Given the description of an element on the screen output the (x, y) to click on. 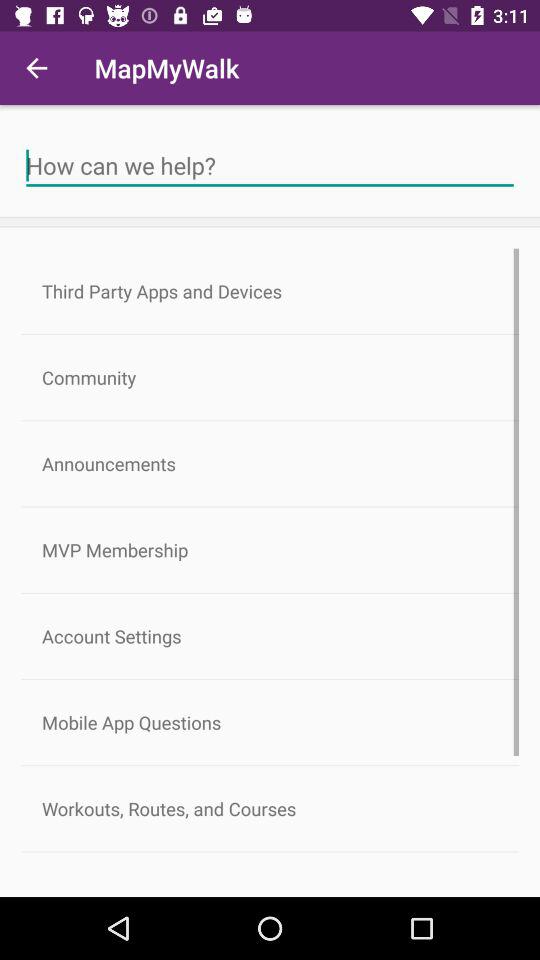
turn on workouts routes and icon (269, 808)
